Given the description of an element on the screen output the (x, y) to click on. 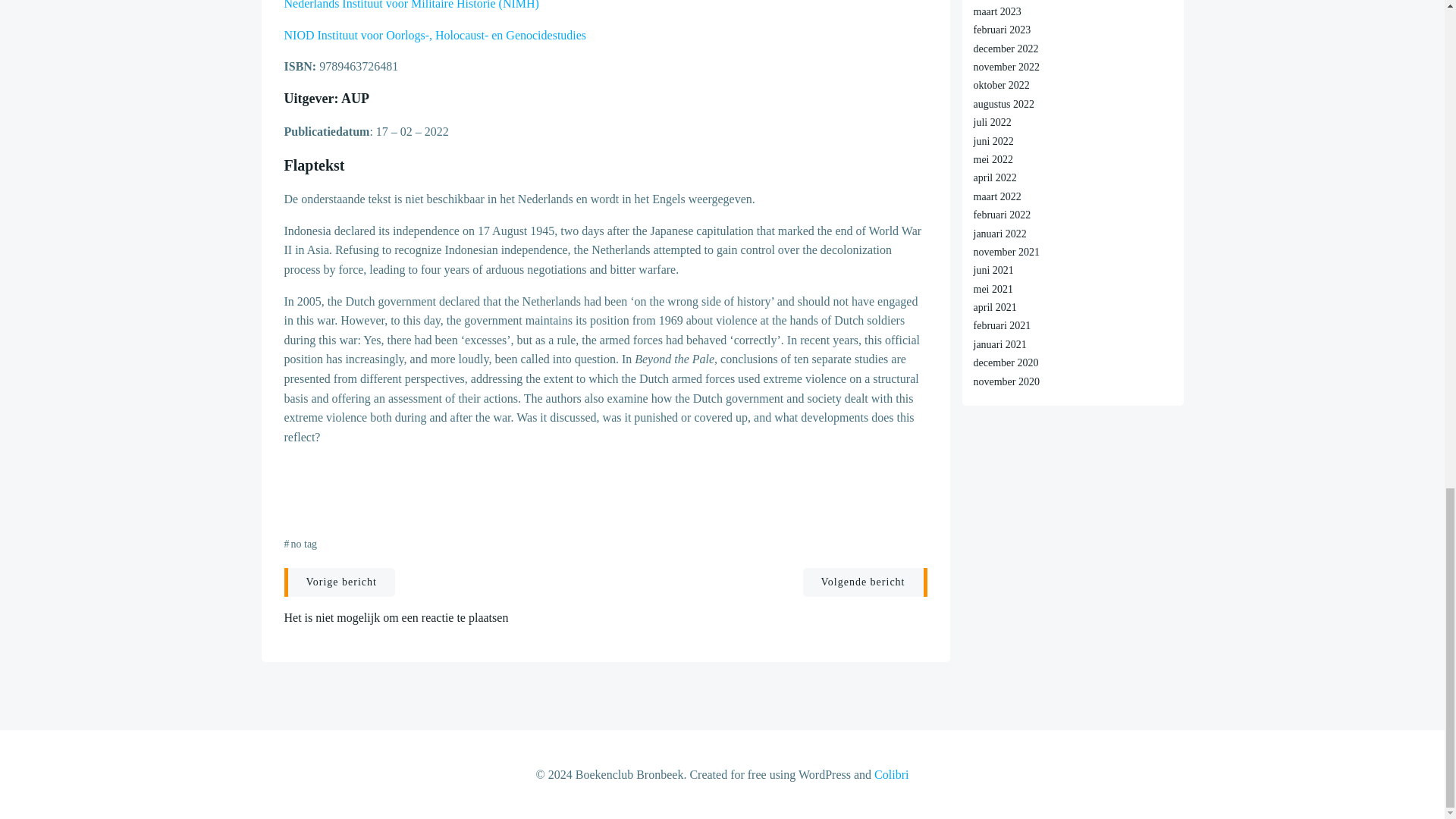
februari 2023 (1002, 30)
december 2022 (1006, 48)
oktober 2022 (1001, 84)
Volgende bericht (864, 582)
november 2022 (1006, 66)
NIOD Instituut voor Oorlogs-, Holocaust- en Genocidestudies (434, 34)
maart 2023 (998, 11)
Vorige bericht (338, 582)
